Given the description of an element on the screen output the (x, y) to click on. 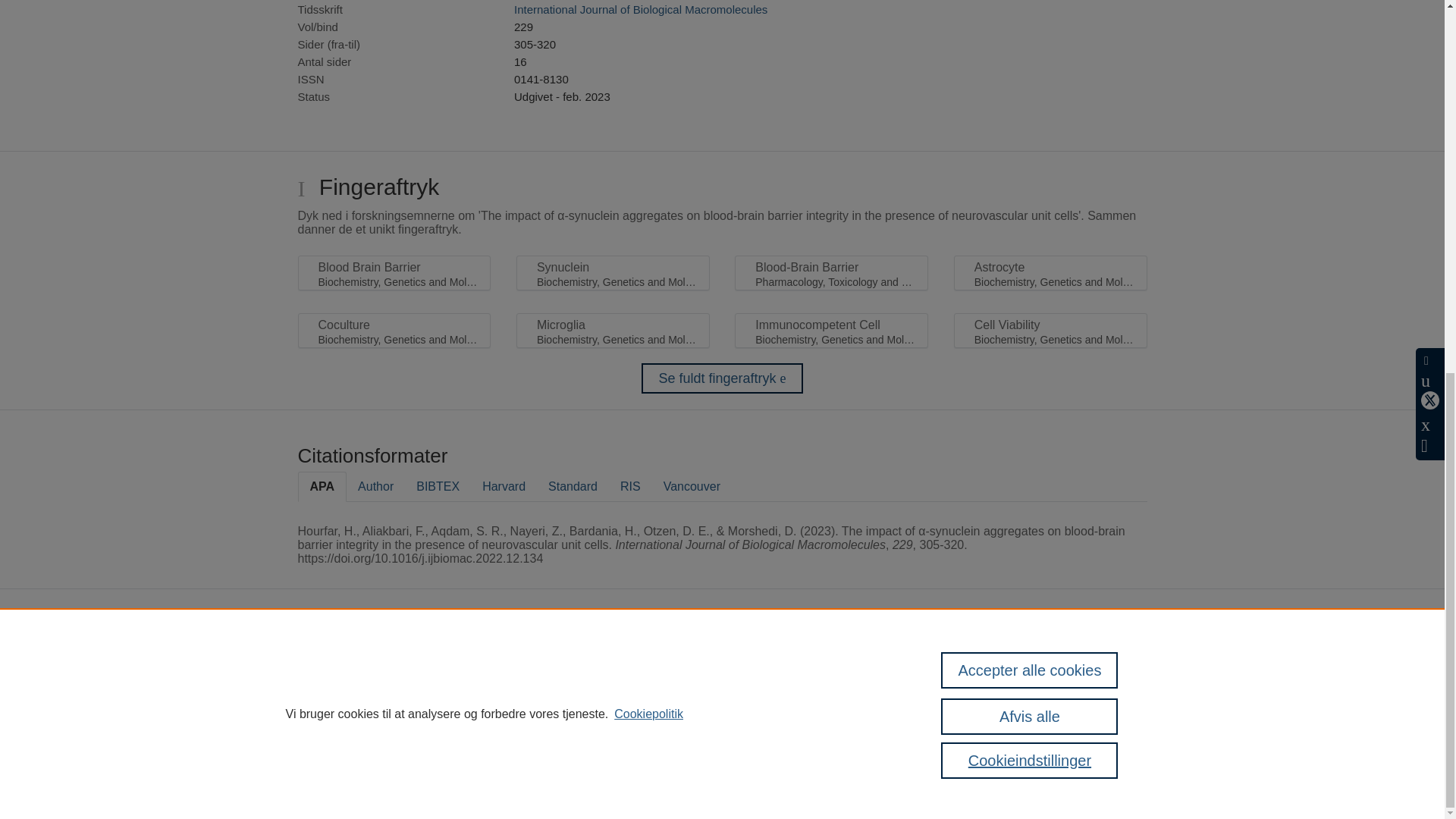
Pure (461, 664)
International Journal of Biological Macromolecules (640, 9)
Se fuldt fingeraftryk (722, 378)
